Given the description of an element on the screen output the (x, y) to click on. 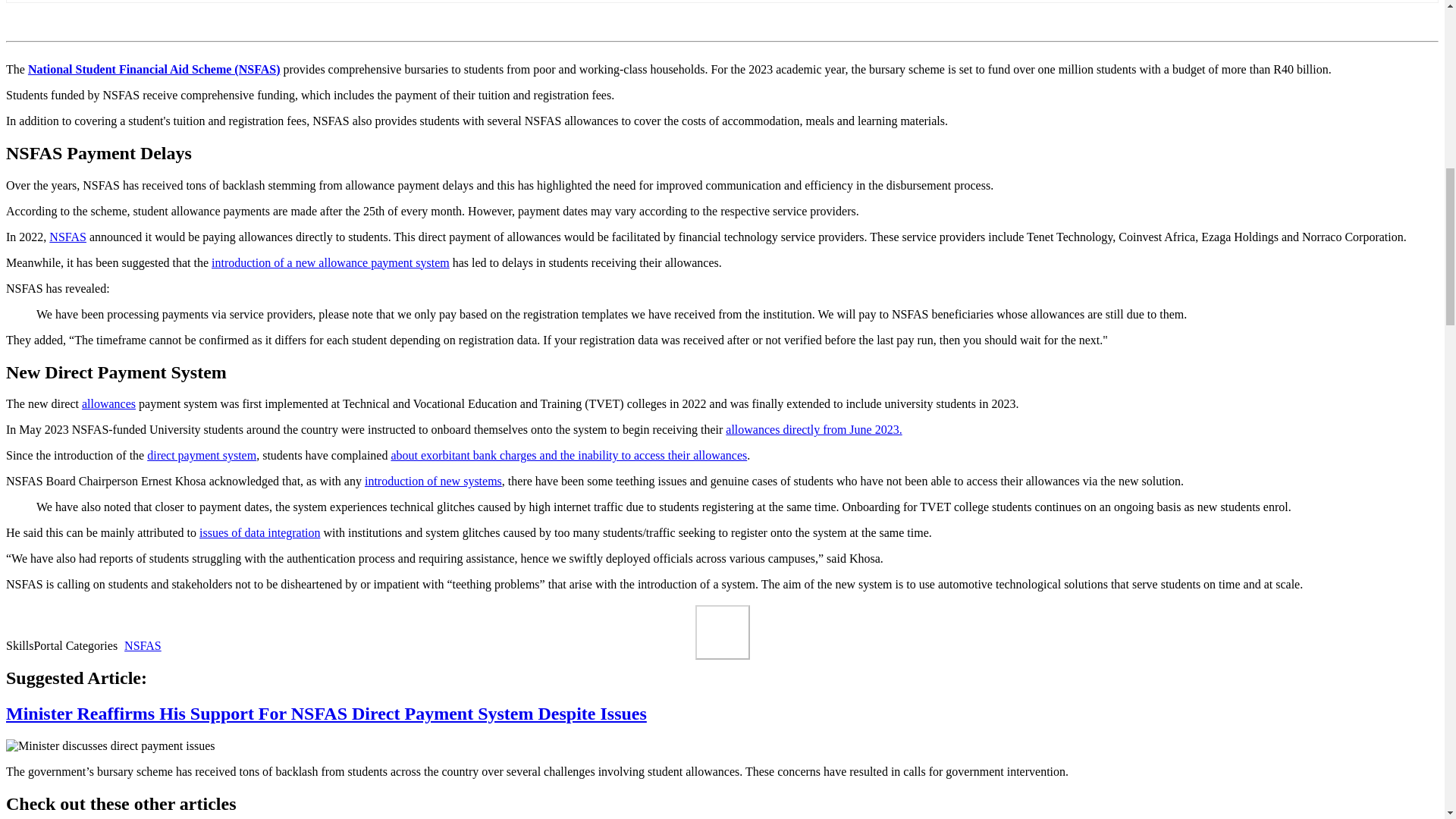
NSFAS (142, 645)
allowances (108, 403)
nsfas accommodation applications (43, 688)
introduction of a new allowance payment system (330, 262)
direct payment system (201, 454)
introduction of new systems (433, 481)
allowances directly from June 2023. (813, 429)
NSFAS (67, 236)
issues of data integration (259, 532)
